Given the description of an element on the screen output the (x, y) to click on. 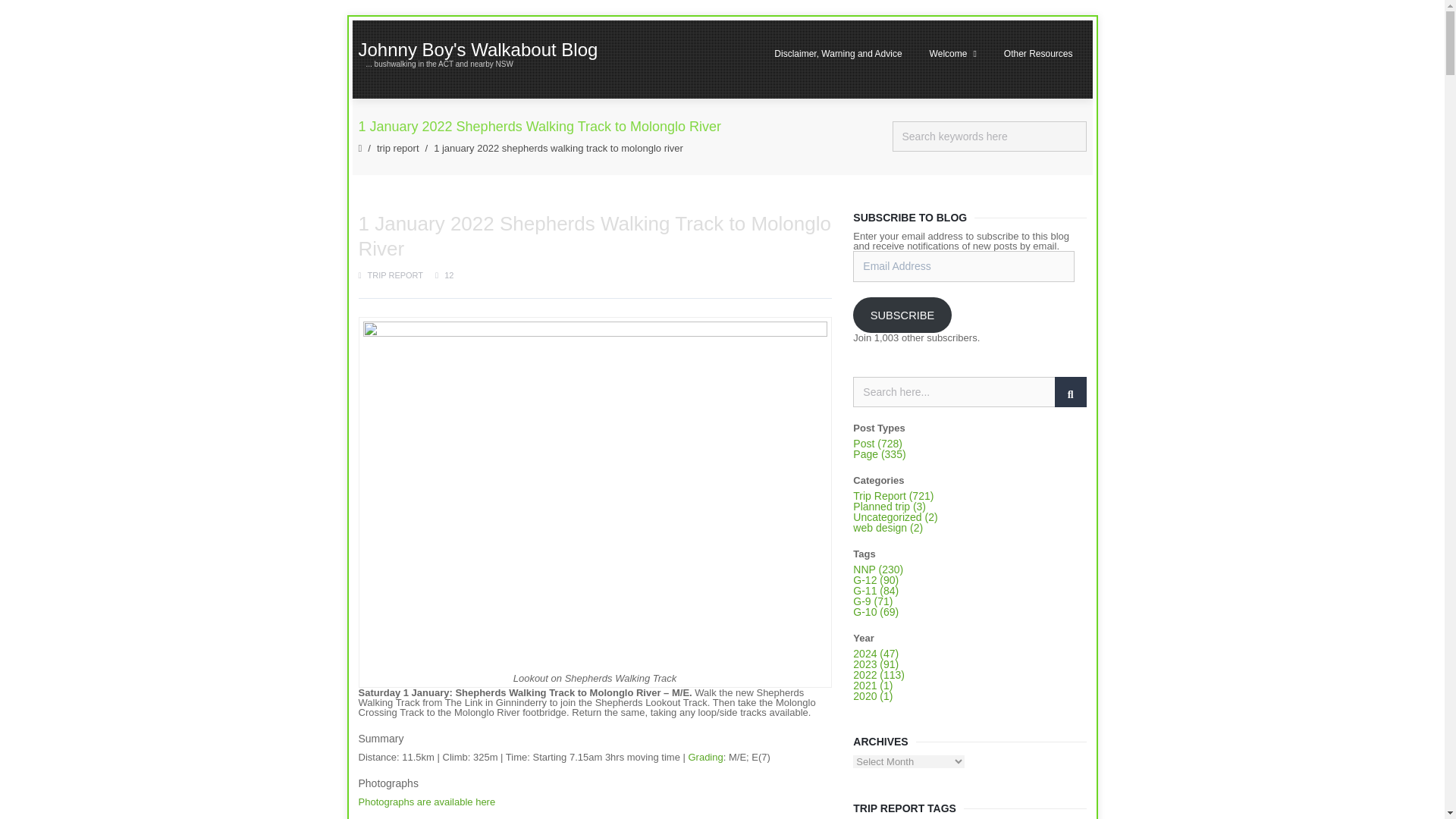
Other Resources (1038, 53)
Trip Report (398, 147)
View all posts in Trip Report (395, 275)
Search here... (969, 391)
Grading of walks (704, 756)
Search here... (969, 391)
trip report (398, 147)
Grading (704, 756)
Disclaimer, Warning and Advice (837, 53)
Welcome (952, 53)
